Given the description of an element on the screen output the (x, y) to click on. 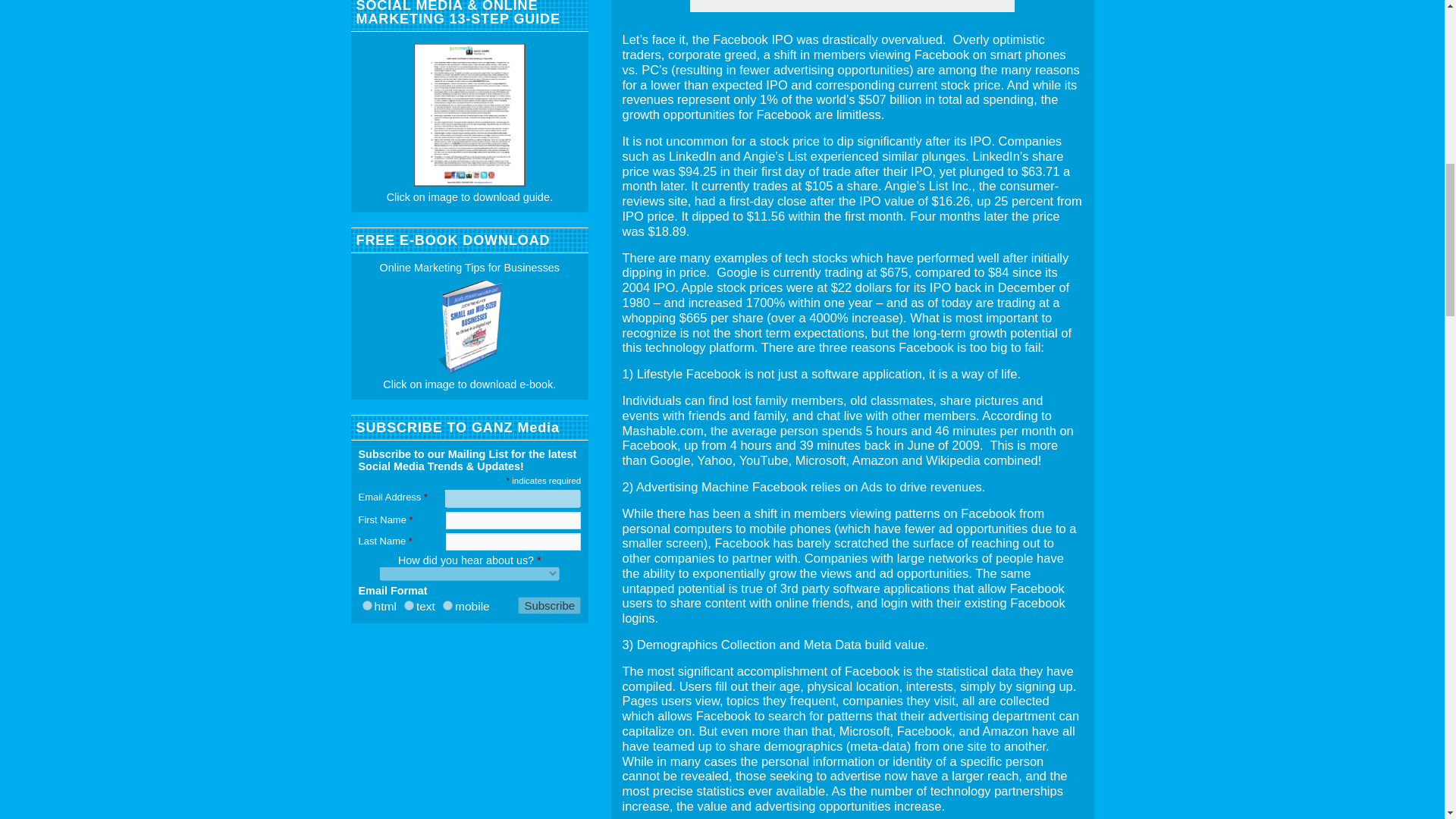
mobile (447, 605)
text (408, 605)
Subscribe (549, 605)
html (367, 605)
